Given the description of an element on the screen output the (x, y) to click on. 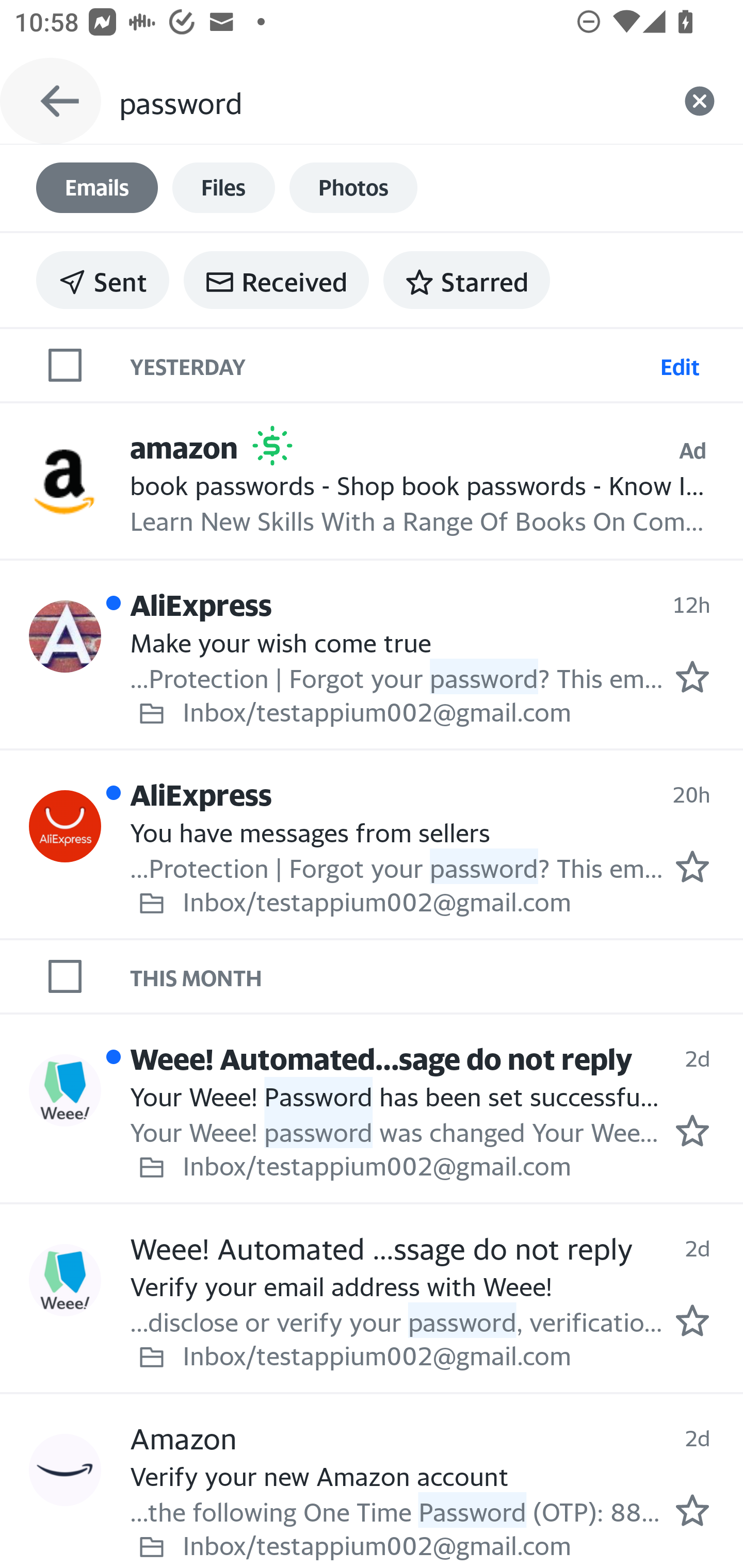
Back (50, 101)
password (387, 101)
Clear (699, 101)
Emails (96, 188)
Files (223, 188)
Photos (353, 188)
Sent (102, 279)
Received (276, 279)
Starred (466, 279)
YESTERDAY (391, 364)
Edit Select emails (679, 364)
Sponsored (272, 445)
Ad (692, 449)
Profile
AliExpress (64, 636)
Mark as starred. (692, 676)
Profile
AliExpress (64, 826)
Mark as starred. (692, 866)
THIS MONTH (436, 975)
Profile
Weee! Automated message do not reply (64, 1089)
Mark as starred. (692, 1131)
Profile
Weee! Automated message do not reply (64, 1279)
Mark as starred. (692, 1321)
Profile
Amazon (64, 1469)
Mark as starred. (692, 1510)
